Given the description of an element on the screen output the (x, y) to click on. 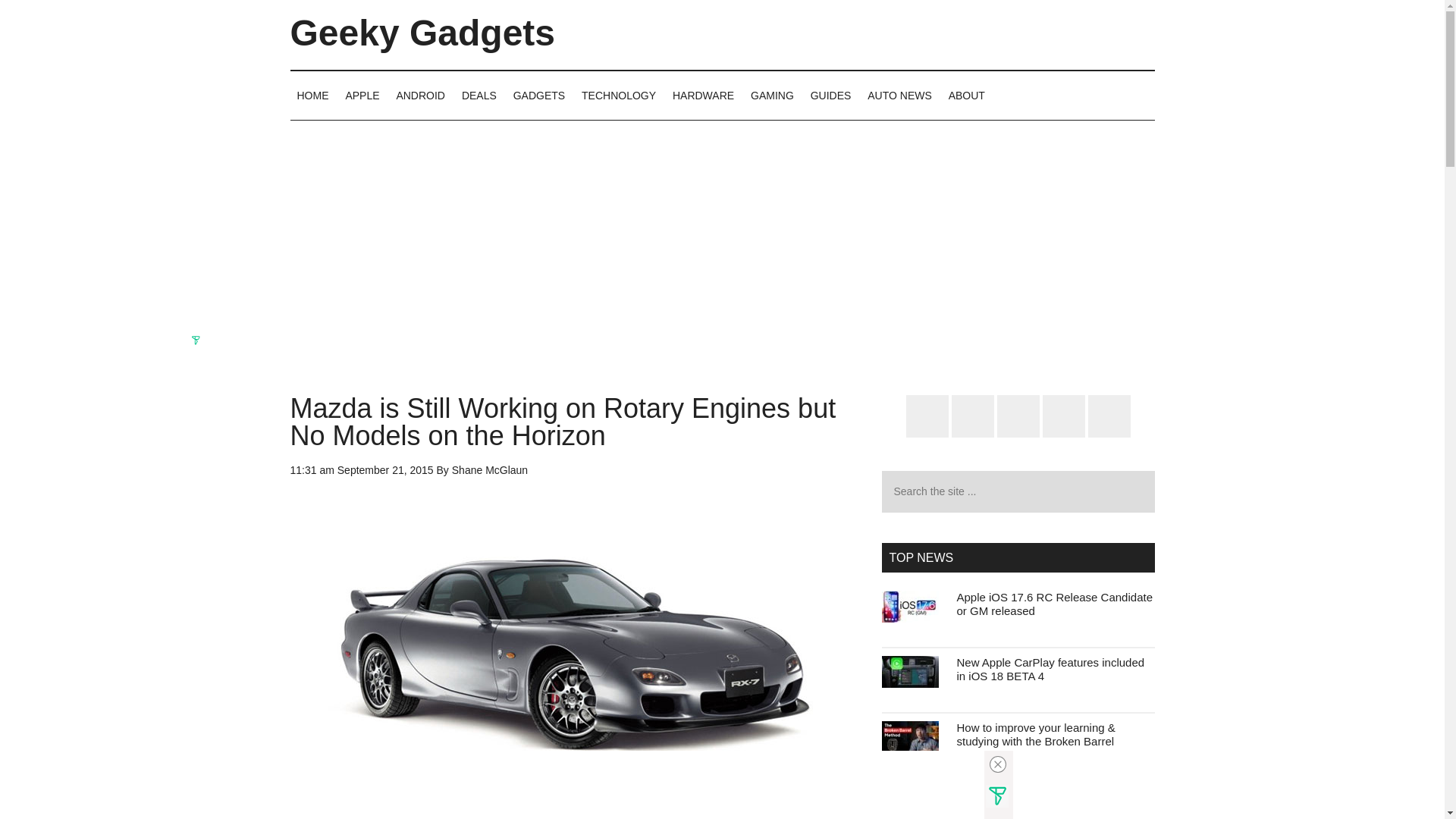
HOME (311, 95)
3rd party ad content (1139, 235)
TECHNOLOGY (618, 95)
3rd party ad content (721, 235)
GADGETS (539, 95)
Shane McGlaun (489, 469)
3rd party ad content (303, 236)
New Apple CarPlay features included in iOS 18 BETA 4 (1050, 669)
APPLE (361, 95)
ABOUT (966, 95)
AUTO NEWS (899, 95)
ANDROID (419, 95)
